Given the description of an element on the screen output the (x, y) to click on. 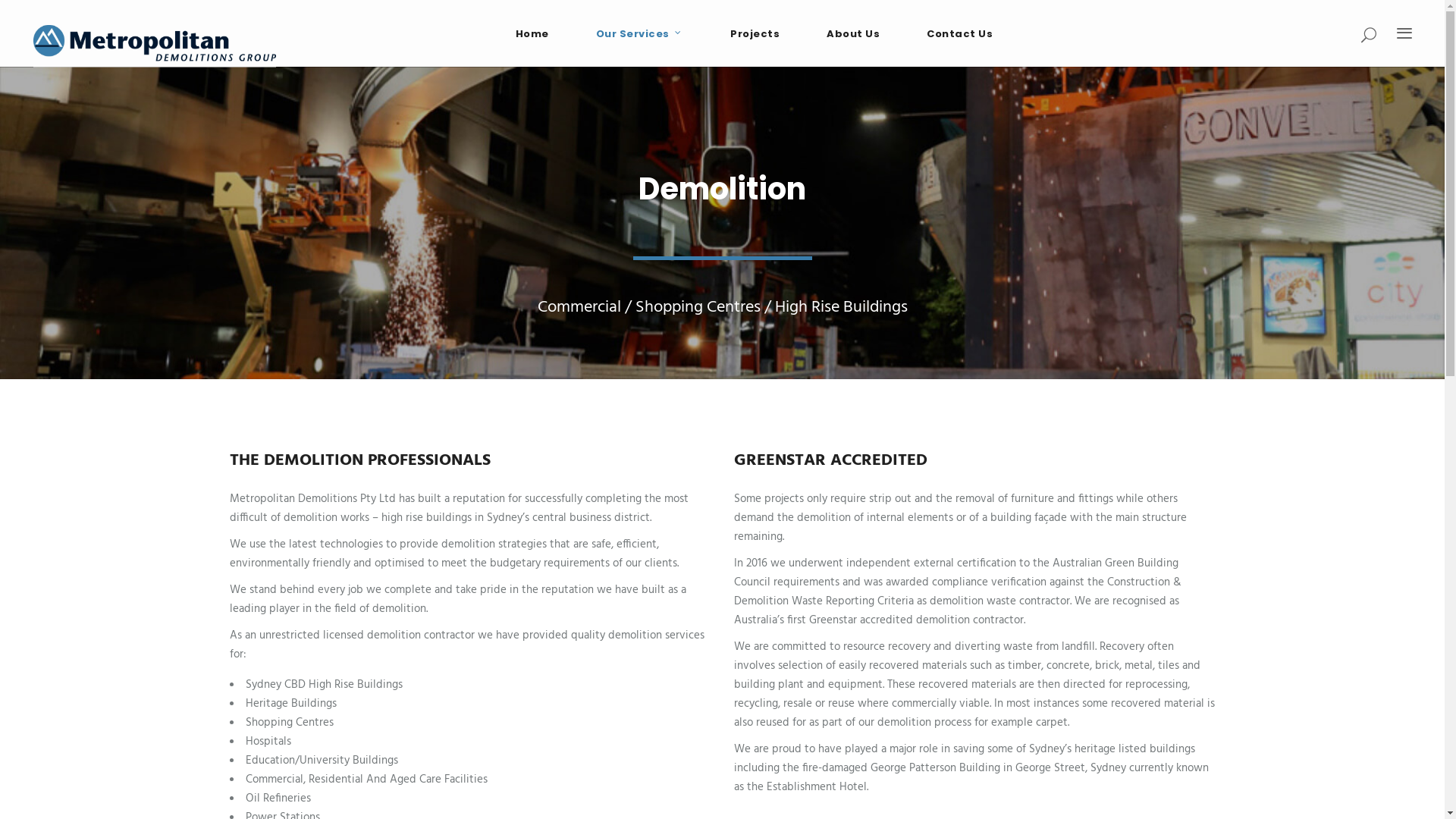
info@metrodemo.com.au Element type: text (857, 523)
tenders@metrodemo.com.au Element type: text (878, 542)
Home Element type: text (432, 501)
U Element type: text (1071, 429)
weighbridge@metrodemo.com.au Element type: text (1223, 542)
About Us Element type: text (852, 33)
Contact Us Element type: text (959, 33)
Home Element type: text (531, 33)
(02) 9519 3099 Element type: text (1179, 569)
(02) 9519 3099 Element type: text (834, 569)
Projects Element type: text (437, 570)
Our Services Element type: text (639, 33)
Our Services Element type: text (449, 536)
About Us Element type: text (441, 605)
Projects Element type: text (754, 33)
Contact Us Element type: text (445, 675)
Management Plans Element type: text (464, 640)
